Given the description of an element on the screen output the (x, y) to click on. 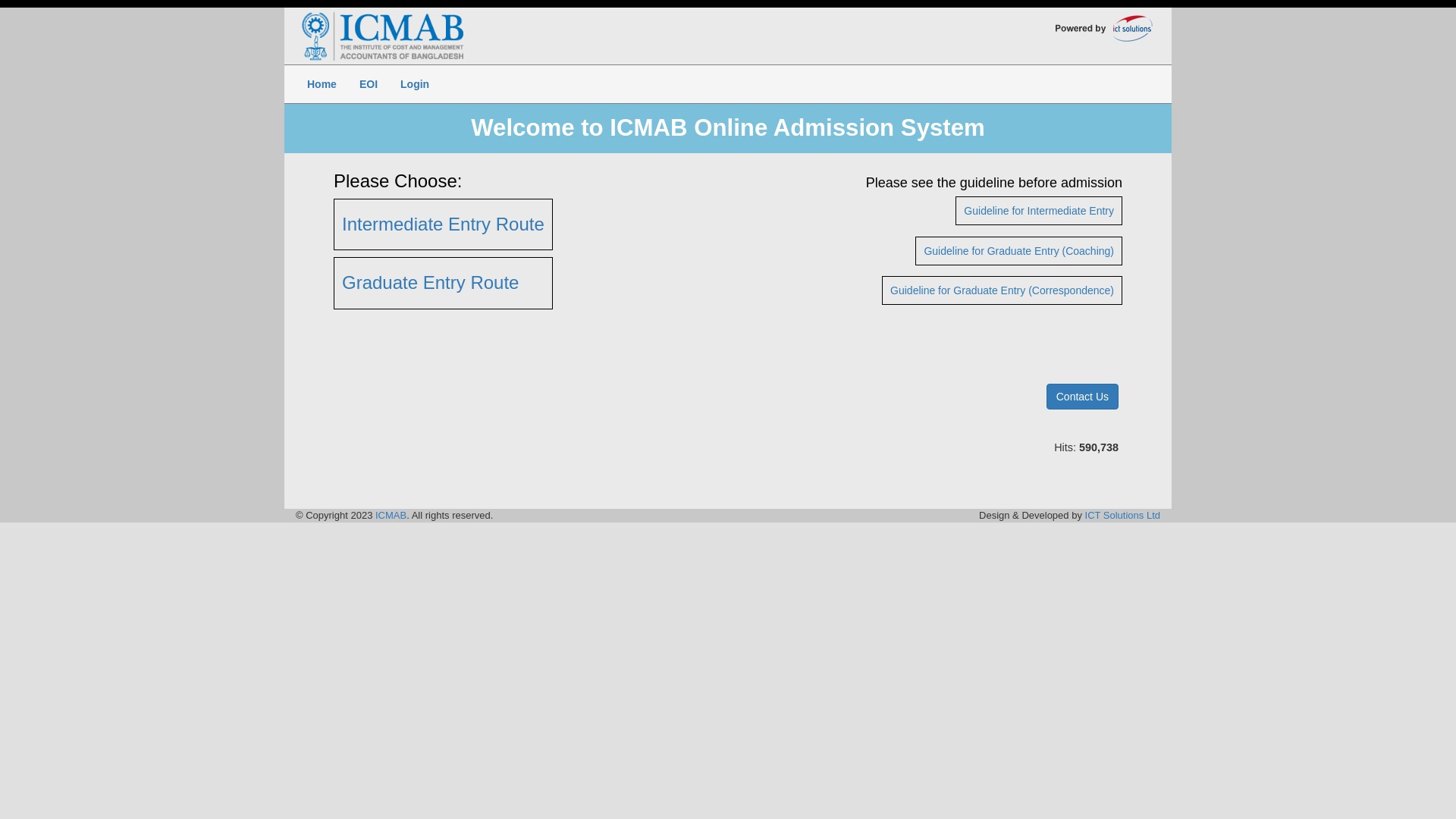
Guideline for Graduate Entry (Correspondence) Element type: text (1001, 290)
ICMAB Element type: text (390, 514)
EOI Element type: text (368, 84)
ICT Solutions Ltd Element type: text (1122, 514)
Guideline for Intermediate Entry Element type: text (1038, 210)
Graduate Entry Route Element type: text (430, 282)
Guideline for Graduate Entry (Coaching) Element type: text (1018, 250)
Login Element type: text (414, 84)
Contact Us Element type: text (1082, 396)
Home Element type: text (321, 84)
Intermediate Entry Route Element type: text (443, 223)
